Given the description of an element on the screen output the (x, y) to click on. 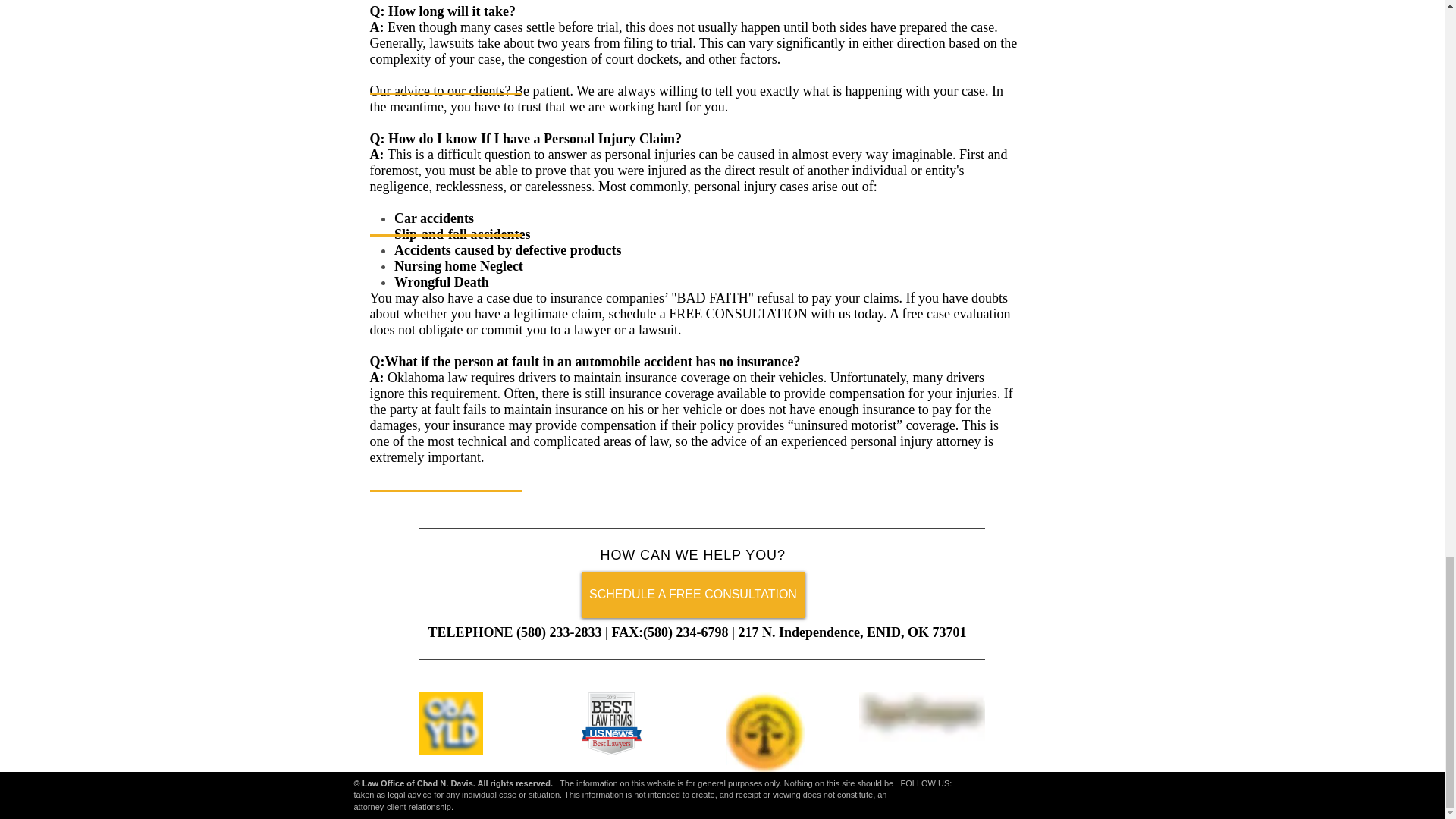
SCHEDULE A FREE CONSULTATION (692, 594)
